Given the description of an element on the screen output the (x, y) to click on. 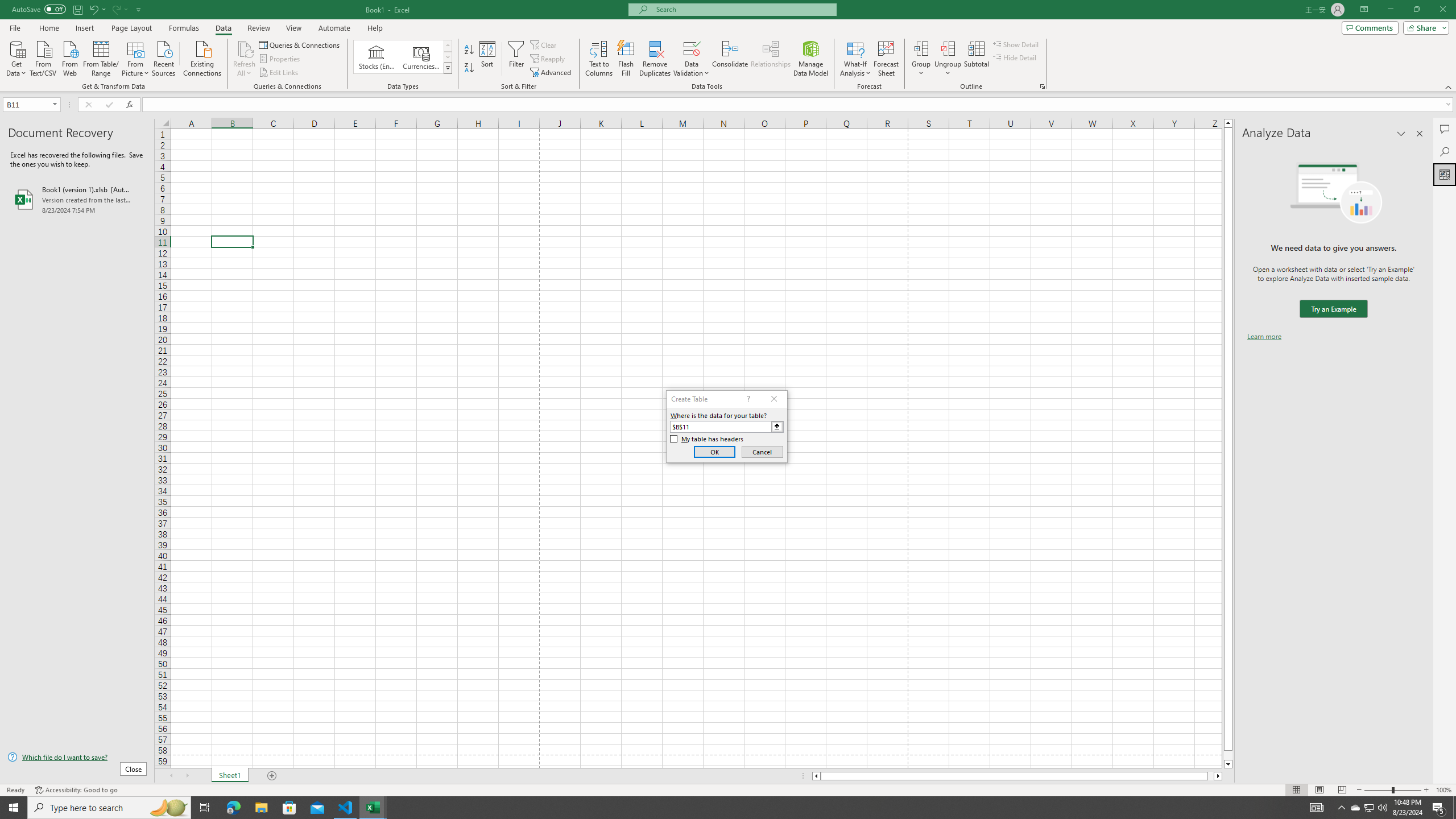
Ungroup... (947, 58)
Subtotal (976, 58)
Book1 (version 1).xlsb  [AutoRecovered] (77, 199)
Group... (921, 58)
Recent Sources (163, 57)
Manage Data Model (810, 58)
From Picture (135, 57)
Filter (515, 58)
